Given the description of an element on the screen output the (x, y) to click on. 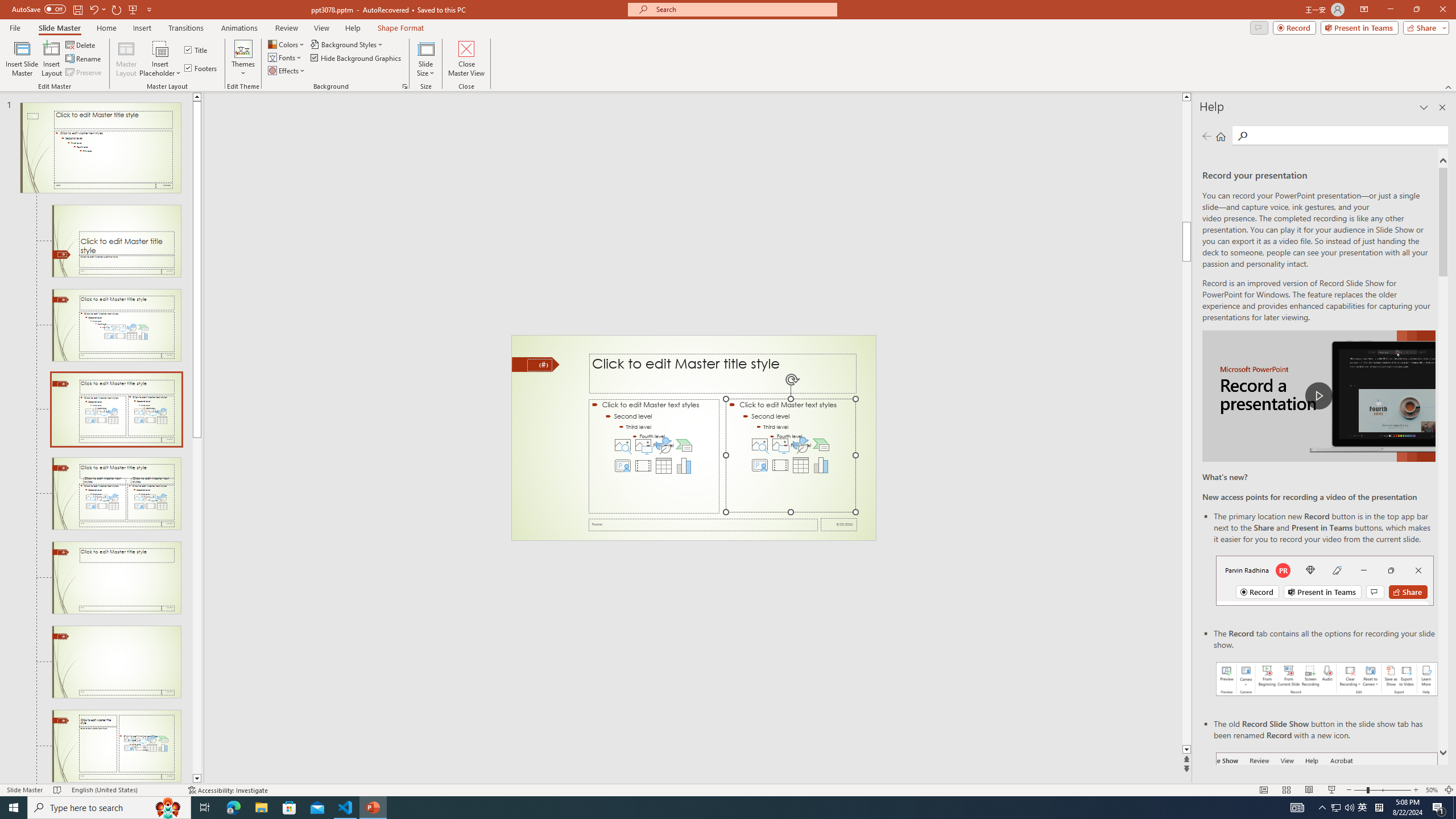
Preserve (84, 72)
Colors (287, 44)
Content (160, 48)
Slide Wisp Slide Master: used by slide(s) 1 (100, 147)
Background Styles (347, 44)
Slide Two Content Layout: used by no slides (116, 493)
